Given the description of an element on the screen output the (x, y) to click on. 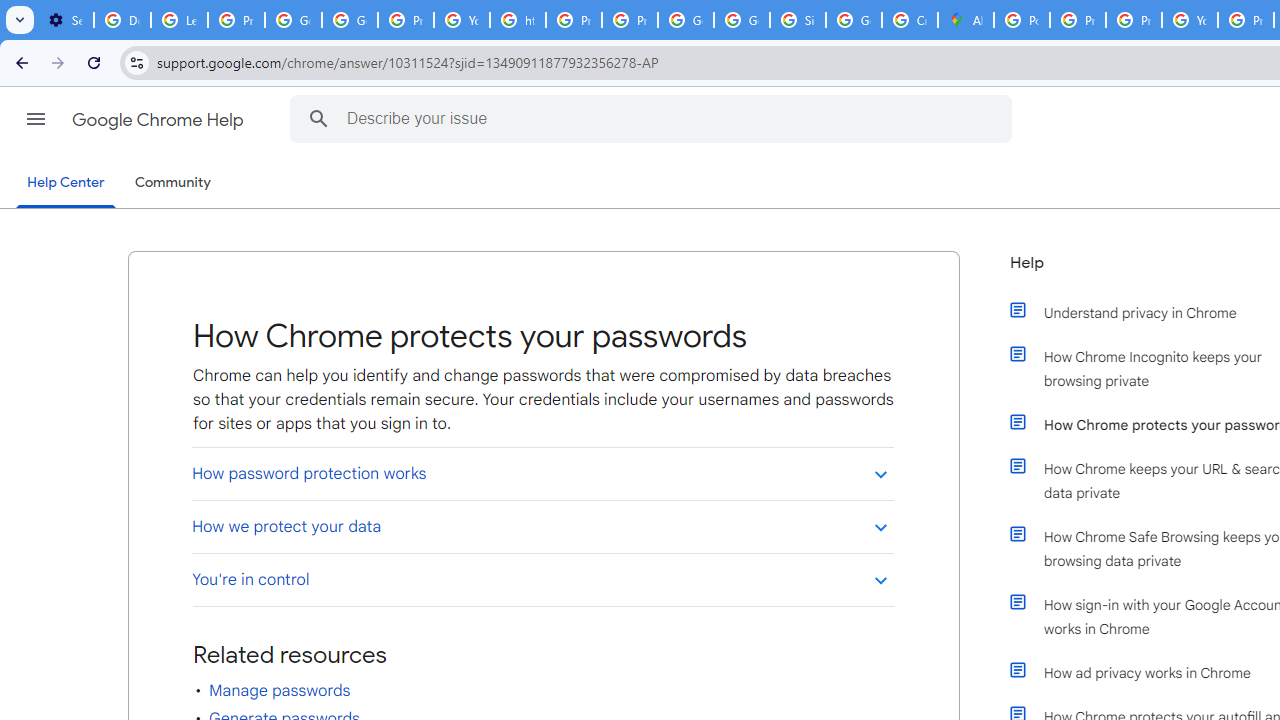
Community (171, 183)
How password protection works (542, 473)
Privacy Help Center - Policies Help (1133, 20)
YouTube (1190, 20)
Manage passwords (279, 691)
Delete photos & videos - Computer - Google Photos Help (122, 20)
